Given the description of an element on the screen output the (x, y) to click on. 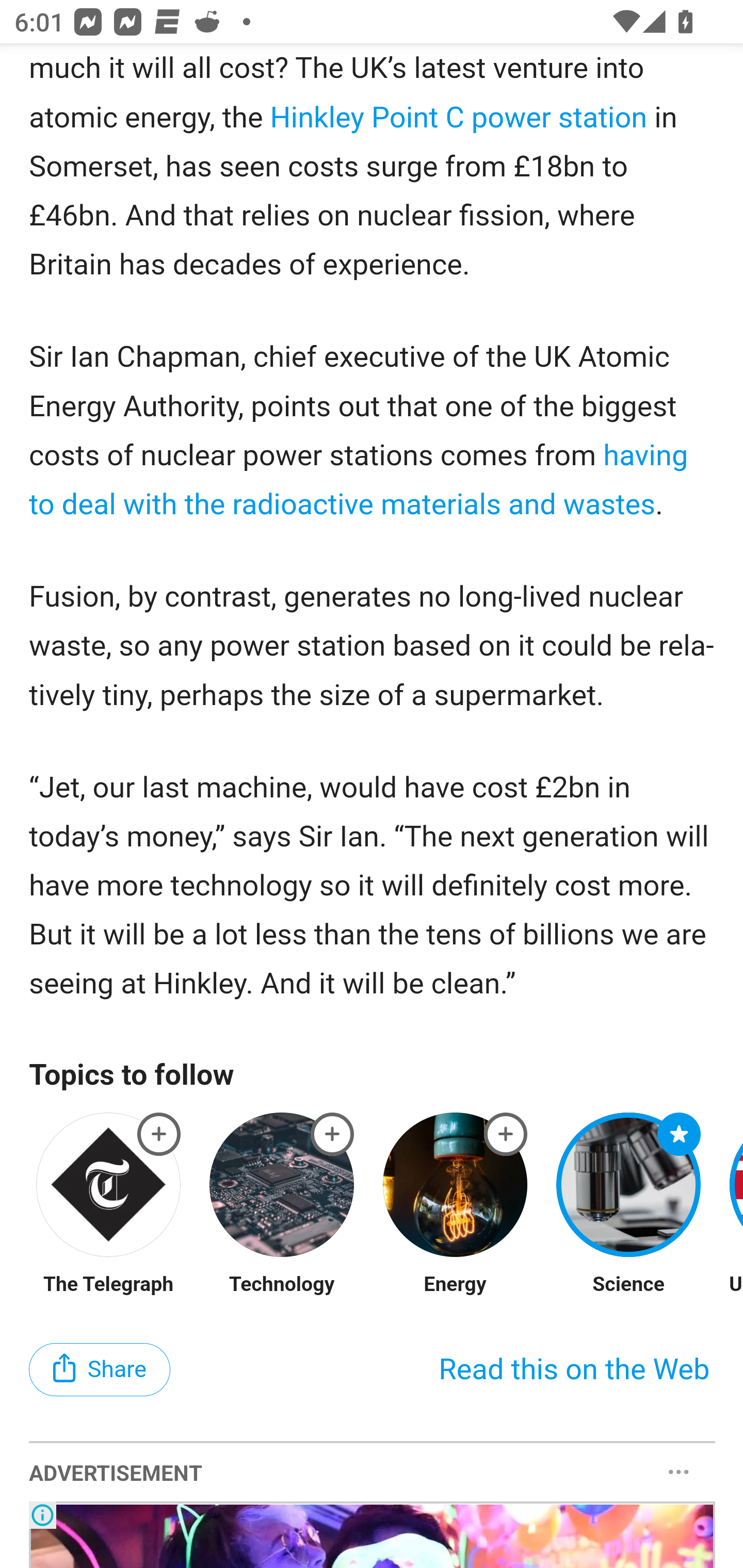
Hinkley Point C power station (457, 117)
The Telegraph (107, 1285)
Technology (281, 1285)
Energy (454, 1285)
Science (629, 1285)
Share (99, 1368)
Read this on the Web (573, 1369)
